Given the description of an element on the screen output the (x, y) to click on. 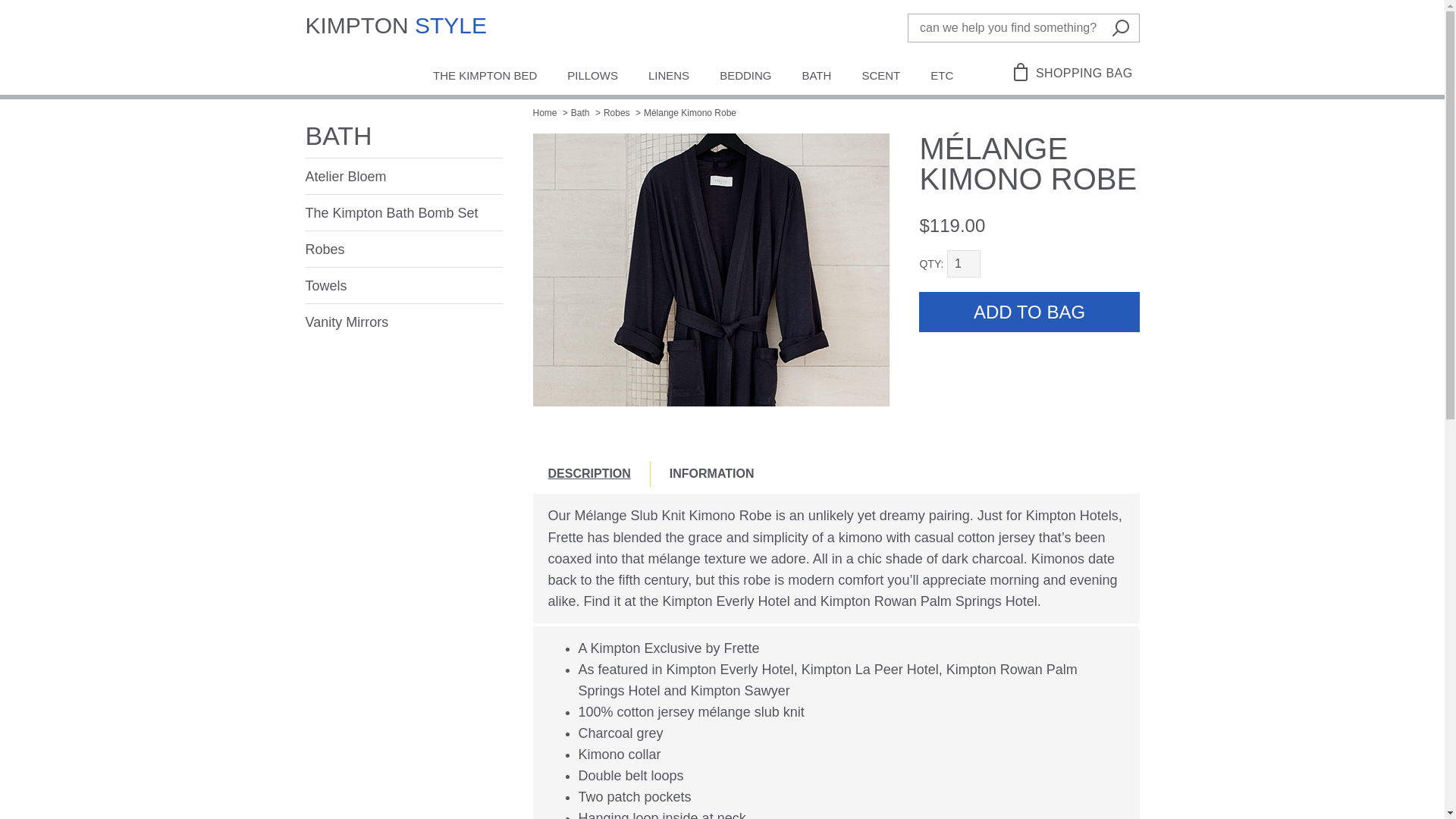
BATH (815, 76)
1 (963, 263)
BEDDING (745, 76)
LINENS (668, 76)
KIMPTON STYLE (397, 29)
SCENT (880, 76)
PILLOWS (592, 76)
Product Search (1014, 28)
Search (1125, 27)
THE KIMPTON BED (484, 76)
